Given the description of an element on the screen output the (x, y) to click on. 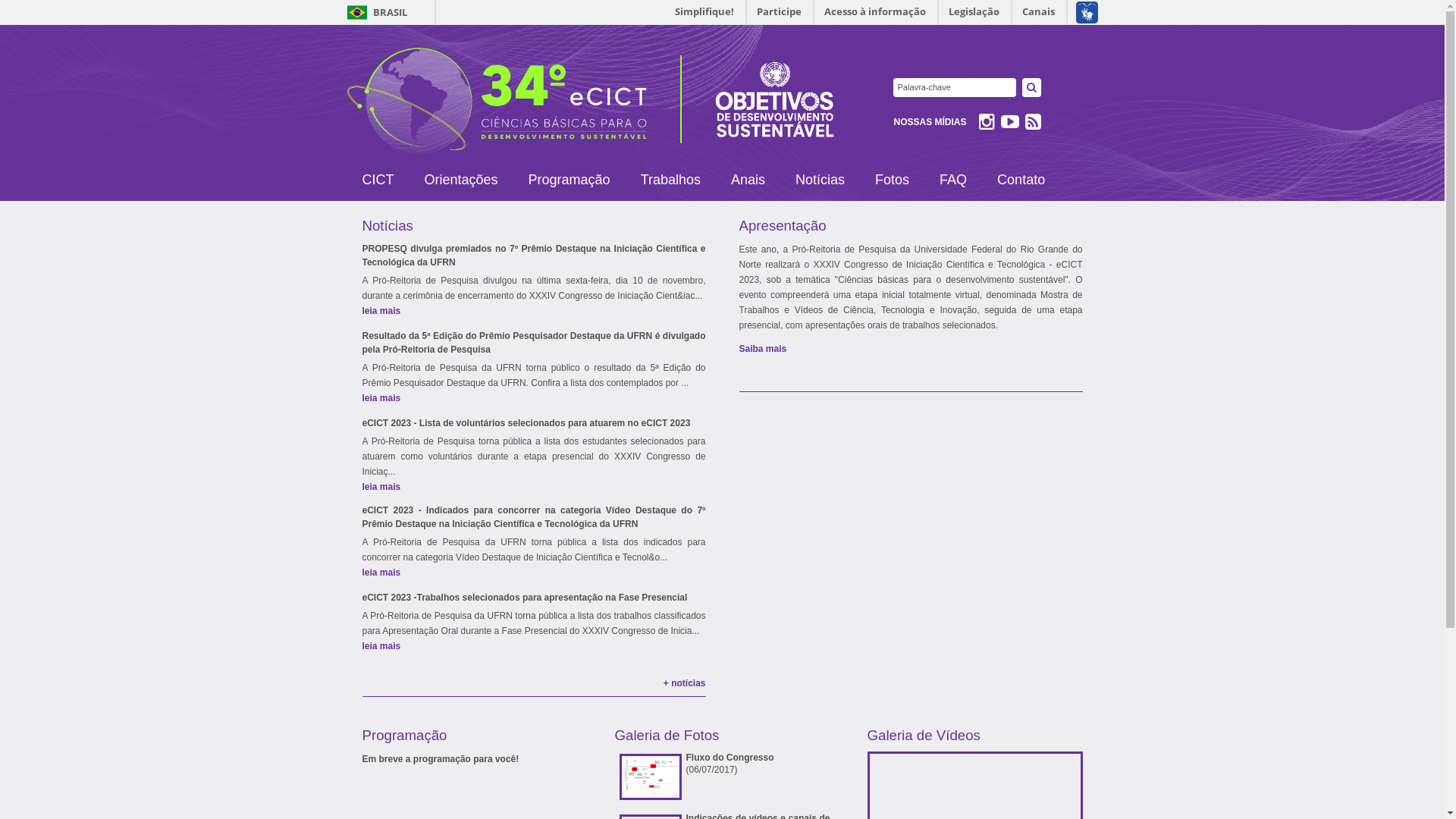
Anais Element type: text (747, 180)
CICT Element type: text (378, 180)
Trabalhos Element type: text (670, 180)
FAQ Element type: text (953, 180)
Canal do Youtube Element type: hover (1010, 124)
Fotos Element type: text (891, 180)
Contato Element type: text (1021, 180)
BRASIL Element type: text (376, 12)
Saiba mais Element type: text (762, 348)
Fluxo do Congresso
(06/07/2017) Element type: text (721, 775)
Palavra-chave Element type: text (954, 87)
